Given the description of an element on the screen output the (x, y) to click on. 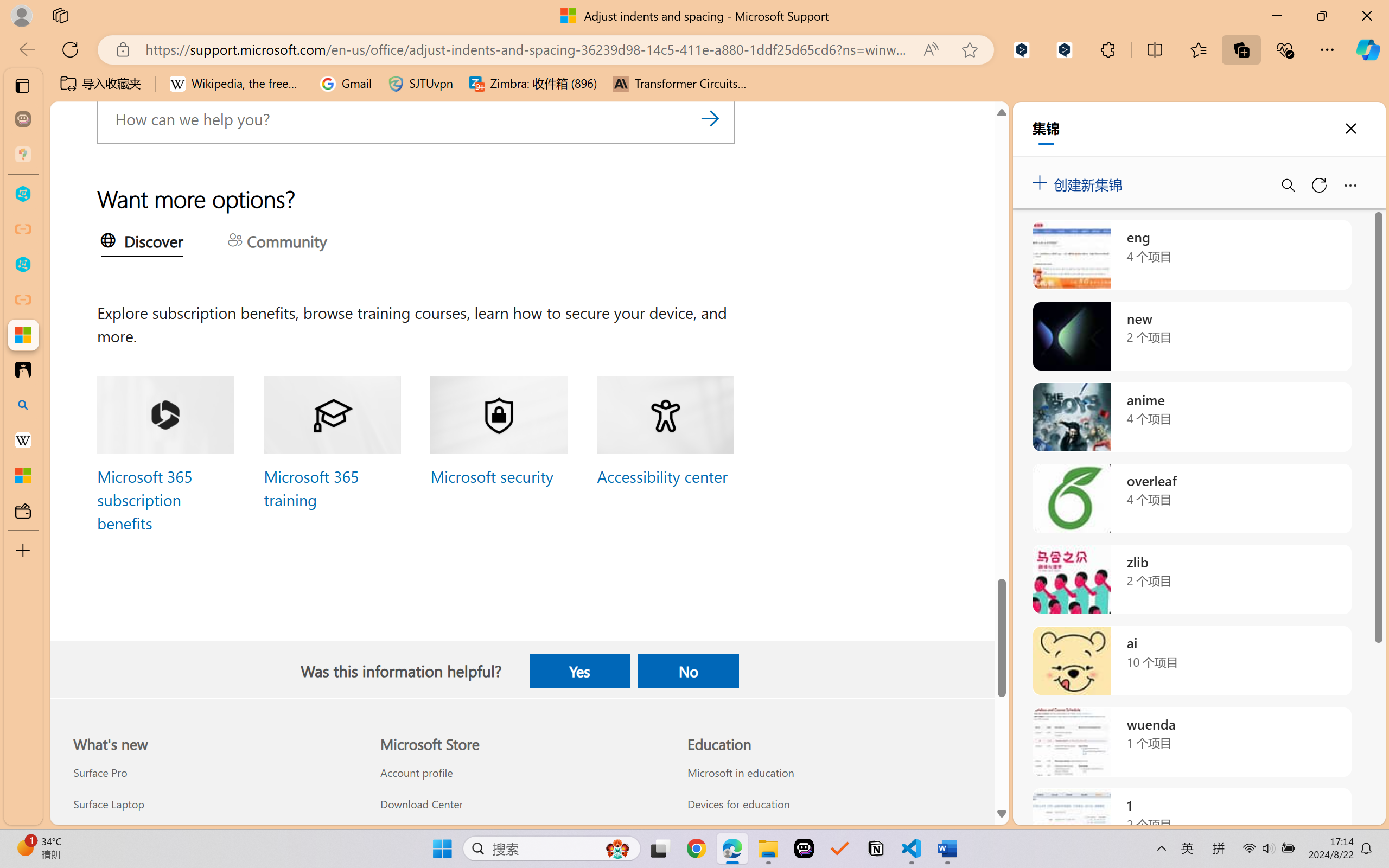
Microsoft in education (828, 772)
Microsoft in education Education (740, 772)
Account profile (521, 772)
Download Center (521, 803)
Community (276, 242)
Devices for education (828, 803)
